Given the description of an element on the screen output the (x, y) to click on. 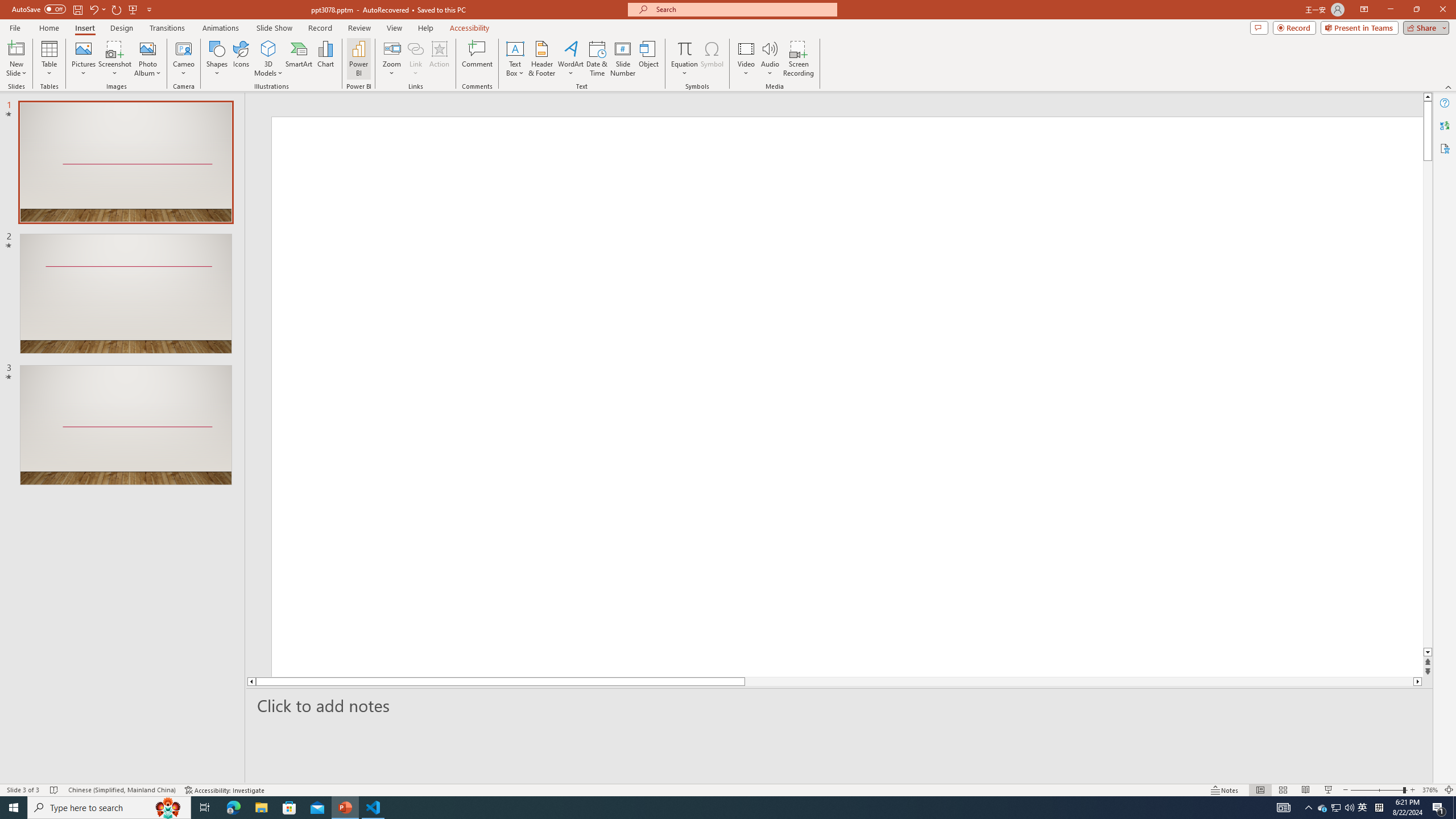
New Slide (16, 58)
Slide Number (622, 58)
WordArt (570, 58)
Page down (1427, 406)
Equation (683, 58)
Chart... (325, 58)
Cameo (183, 48)
Microsoft search (742, 9)
Class: MsoCommandBar (728, 789)
Date & Time... (596, 58)
Draw Horizontal Text Box (515, 48)
